Given the description of an element on the screen output the (x, y) to click on. 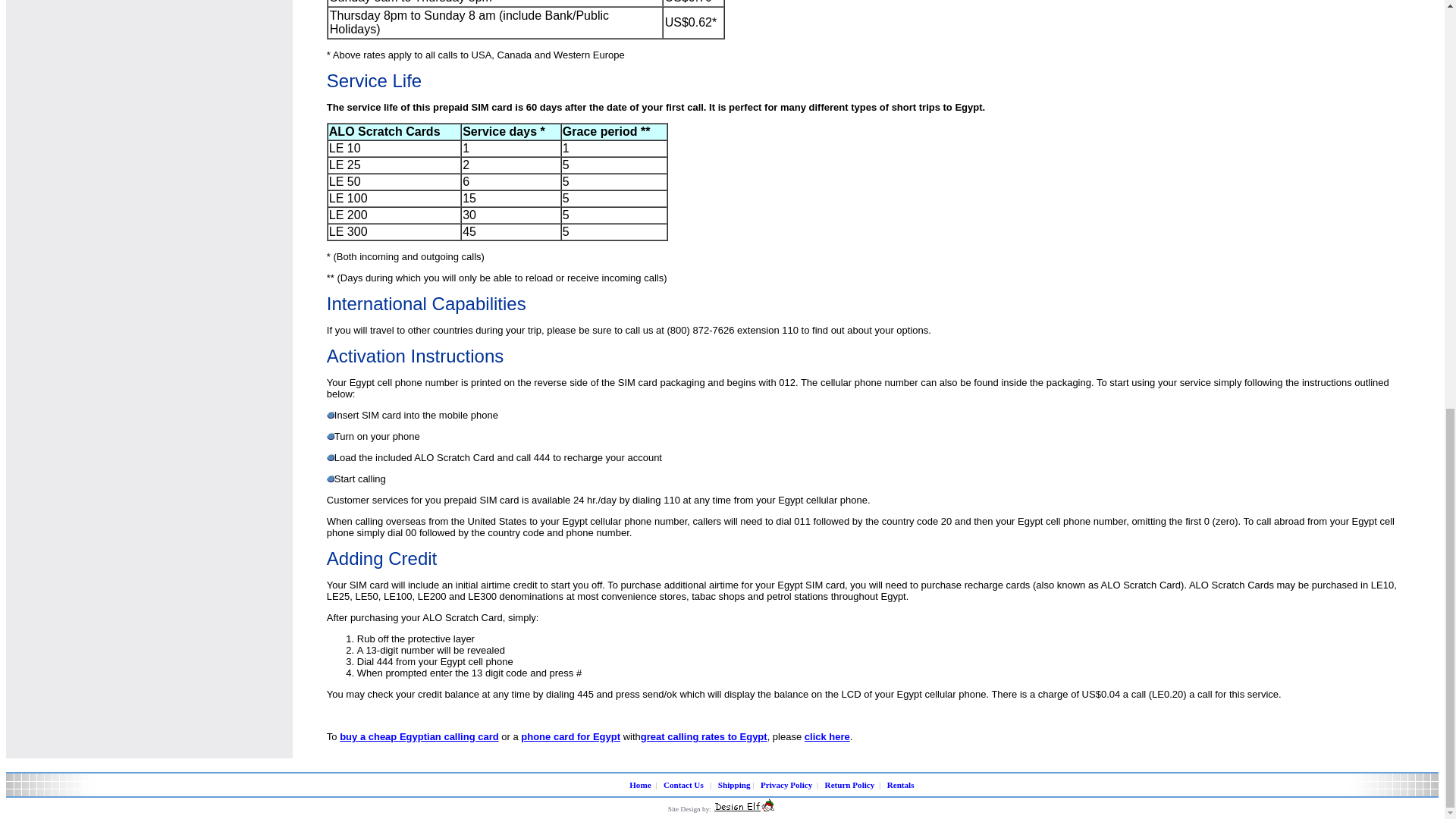
phone card for Egypt (570, 736)
buy a cheap Egyptian calling card (419, 736)
